Given the description of an element on the screen output the (x, y) to click on. 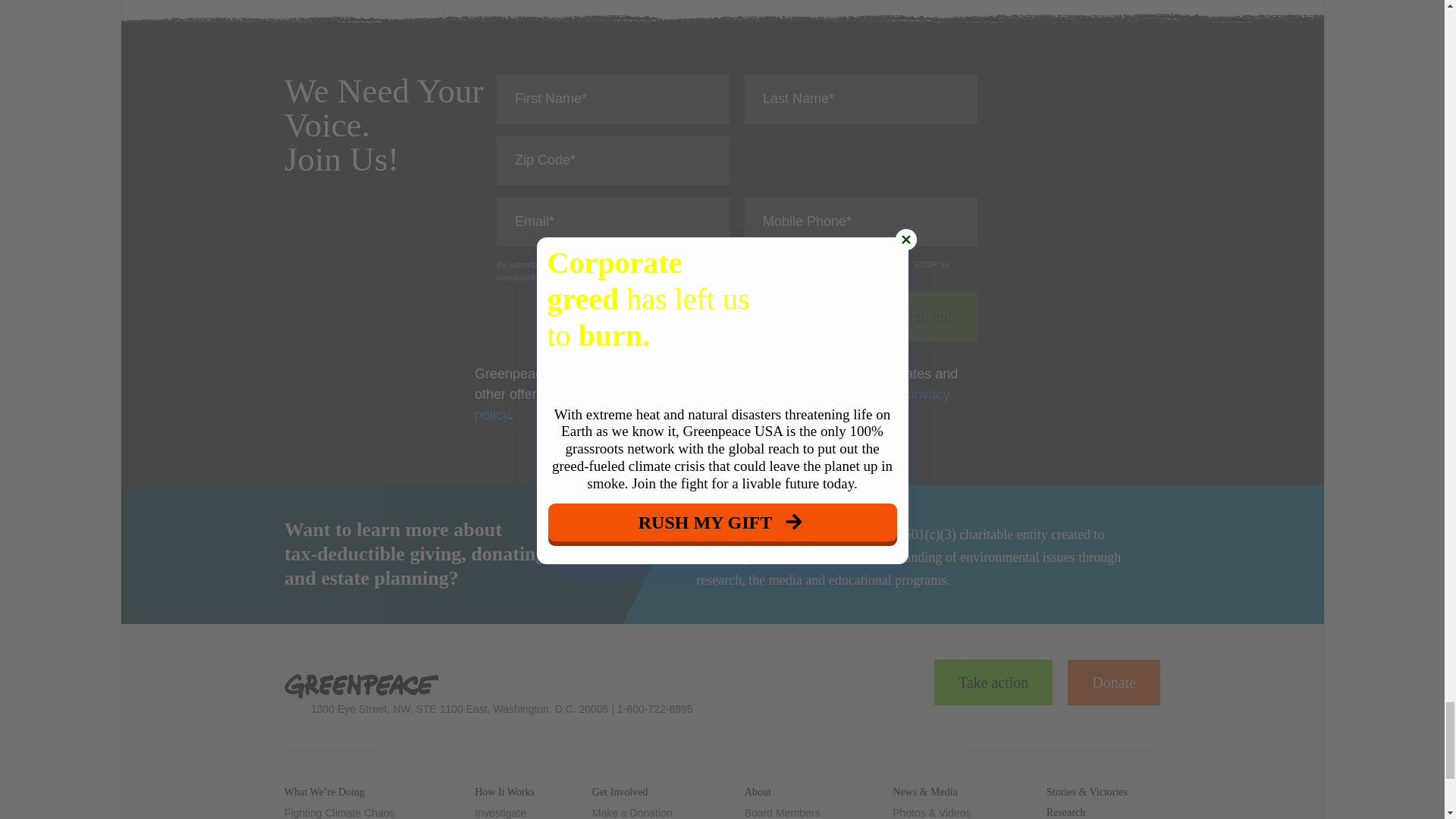
sign up! (926, 316)
